Given the description of an element on the screen output the (x, y) to click on. 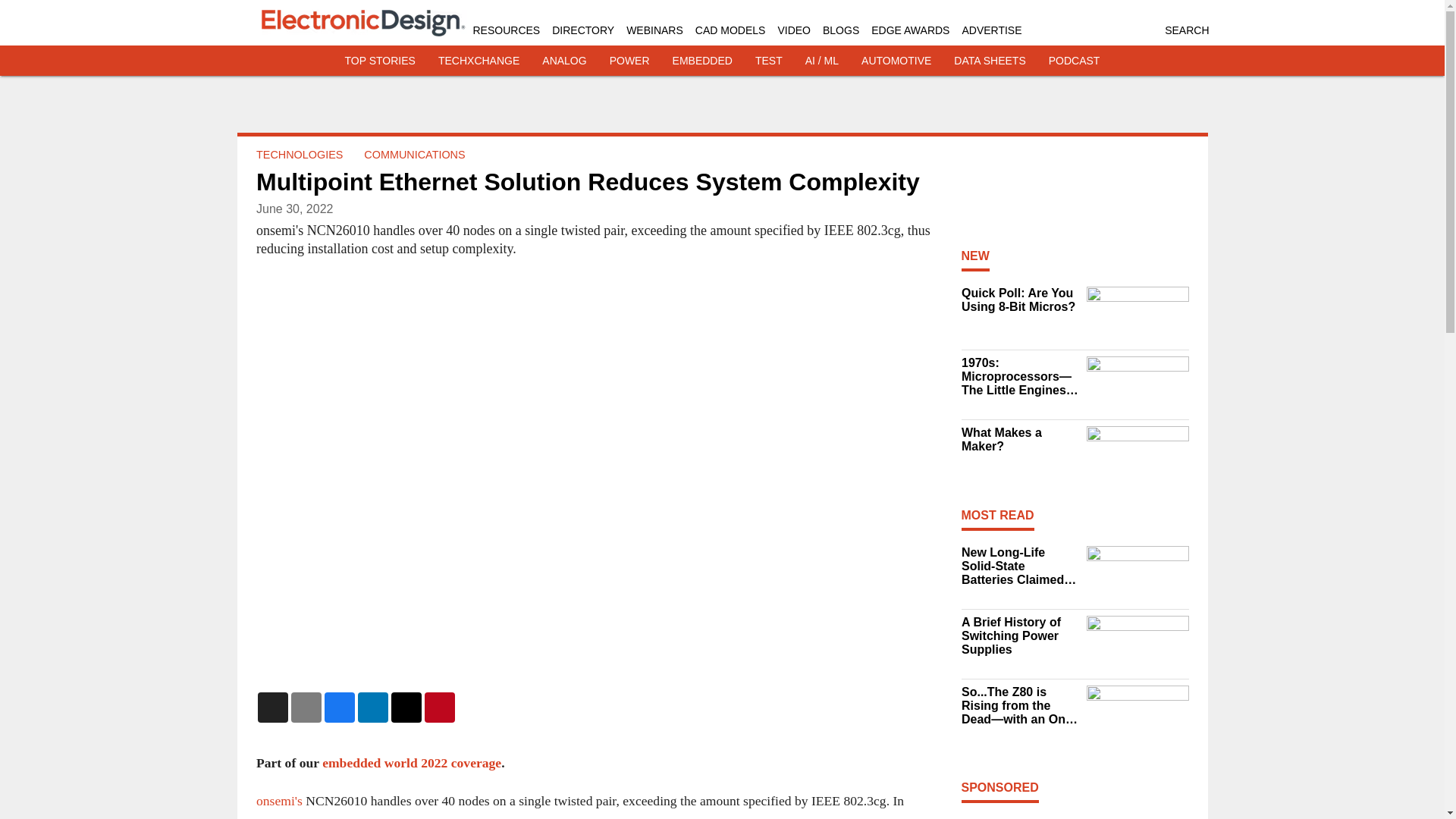
SEARCH (1186, 30)
WEBINARS (654, 30)
ANALOG (563, 60)
TECHNOLOGIES (299, 154)
TOP STORIES (379, 60)
RESOURCES (506, 30)
Quick Poll: Are You Using 8-Bit Micros? (1019, 299)
TECHXCHANGE (478, 60)
TEST (769, 60)
ADVERTISE (991, 30)
